Given the description of an element on the screen output the (x, y) to click on. 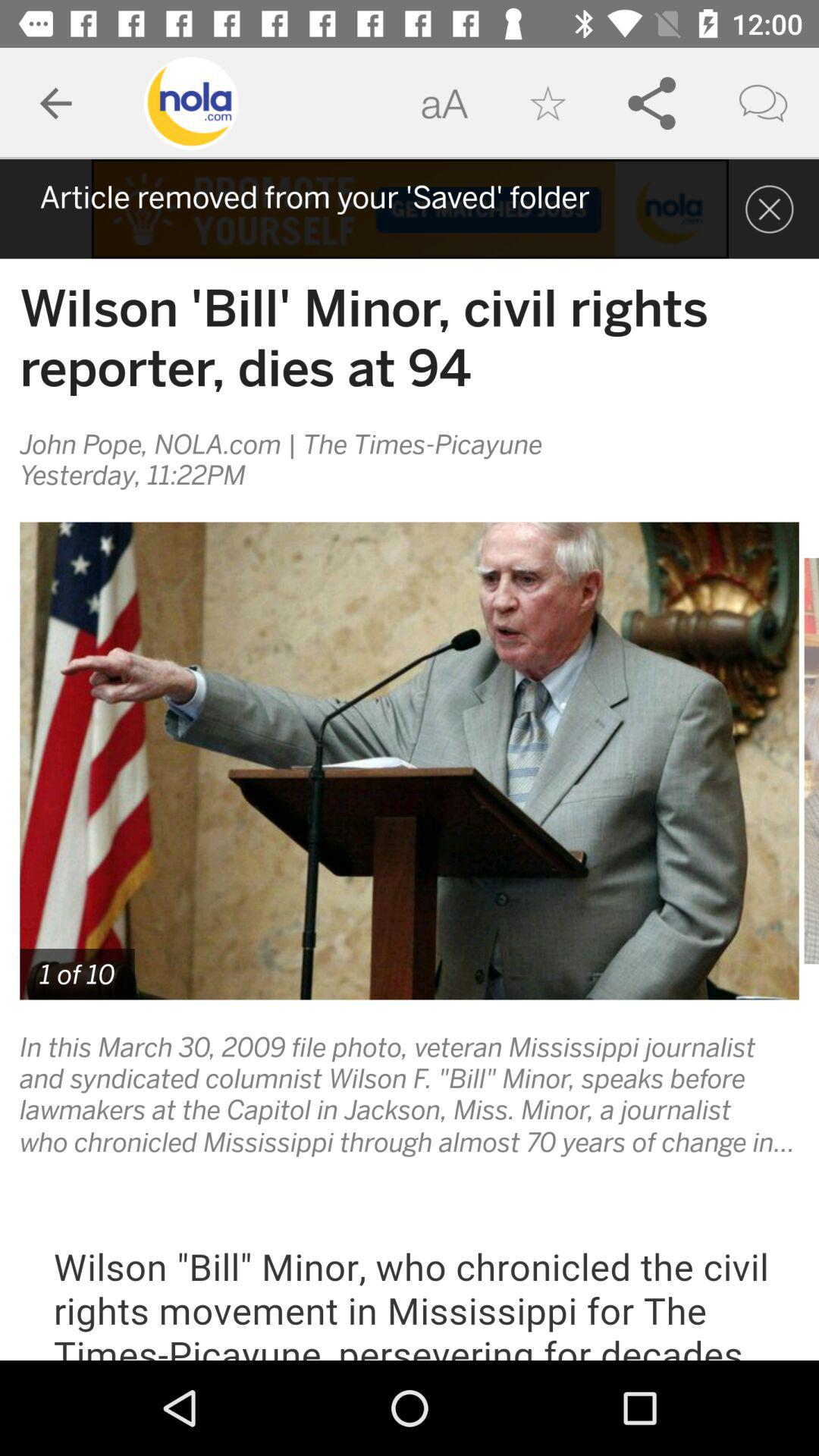
close button (769, 208)
